Given the description of an element on the screen output the (x, y) to click on. 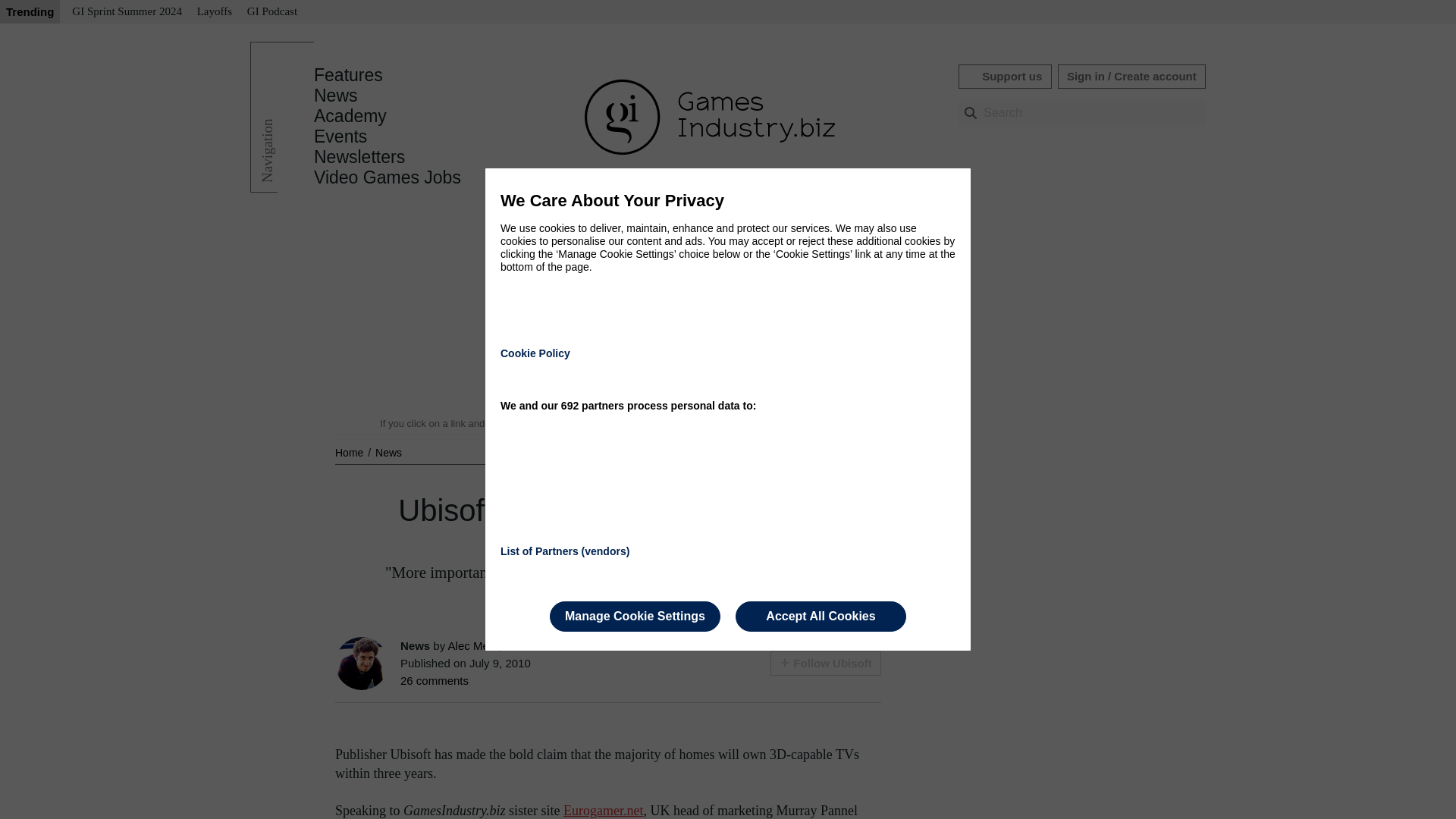
Layoffs (214, 11)
Follow Ubisoft (825, 663)
Alec Meer (473, 645)
Events (340, 136)
Academy (350, 116)
Features (348, 75)
Read our editorial policy (781, 423)
News (388, 452)
GI Podcast (271, 11)
Features (348, 75)
Newsletters (359, 157)
Newsletters (359, 157)
Video Games Jobs (387, 177)
News (336, 95)
Video Games Jobs (387, 177)
